Given the description of an element on the screen output the (x, y) to click on. 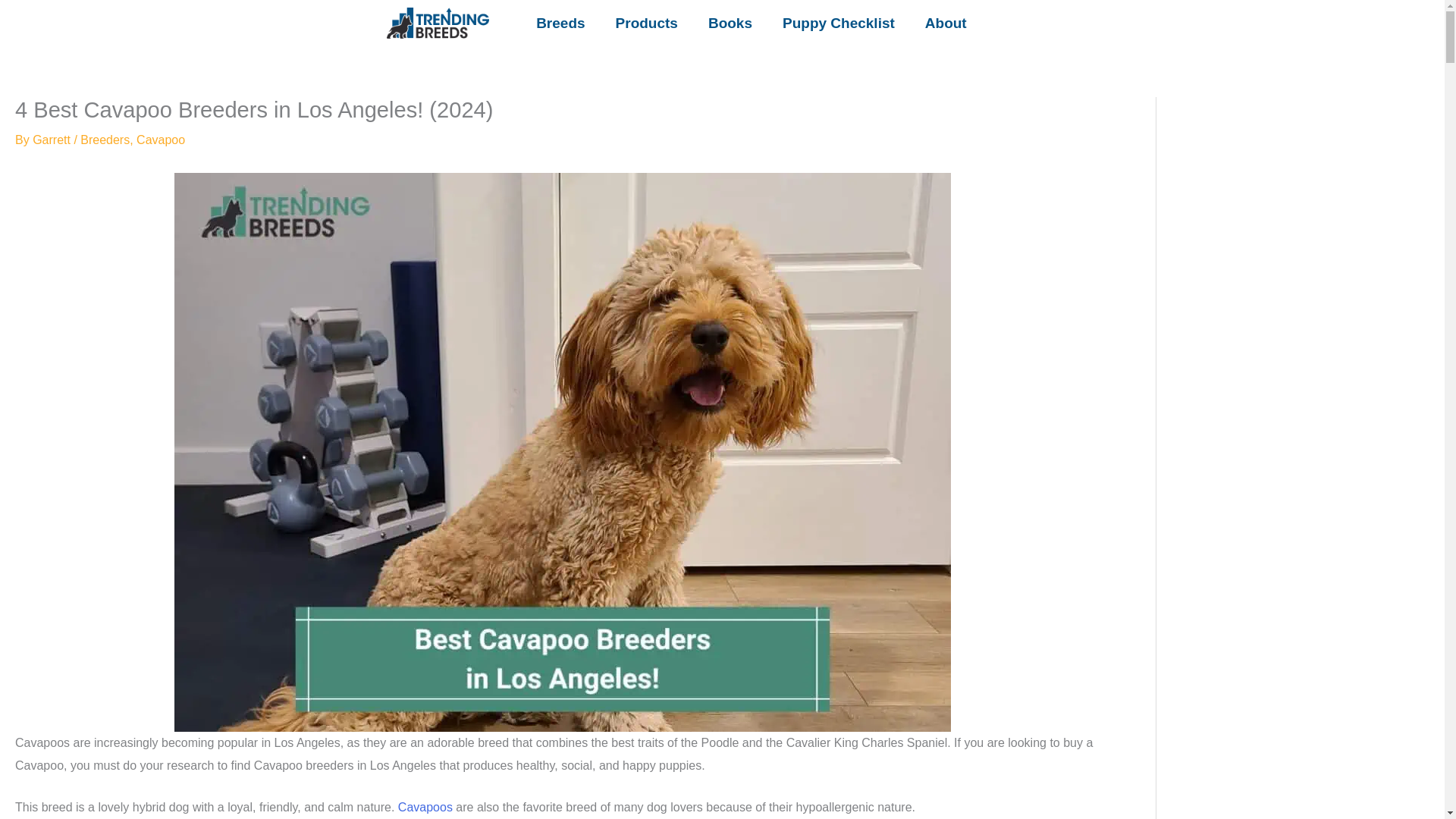
About (945, 22)
Books (730, 22)
View all posts by Garrett (53, 139)
Cavapoos (424, 807)
Cavapoo (160, 139)
Breeders (104, 139)
Products (646, 22)
Garrett (53, 139)
Breeds (560, 22)
Puppy Checklist (838, 22)
